Given the description of an element on the screen output the (x, y) to click on. 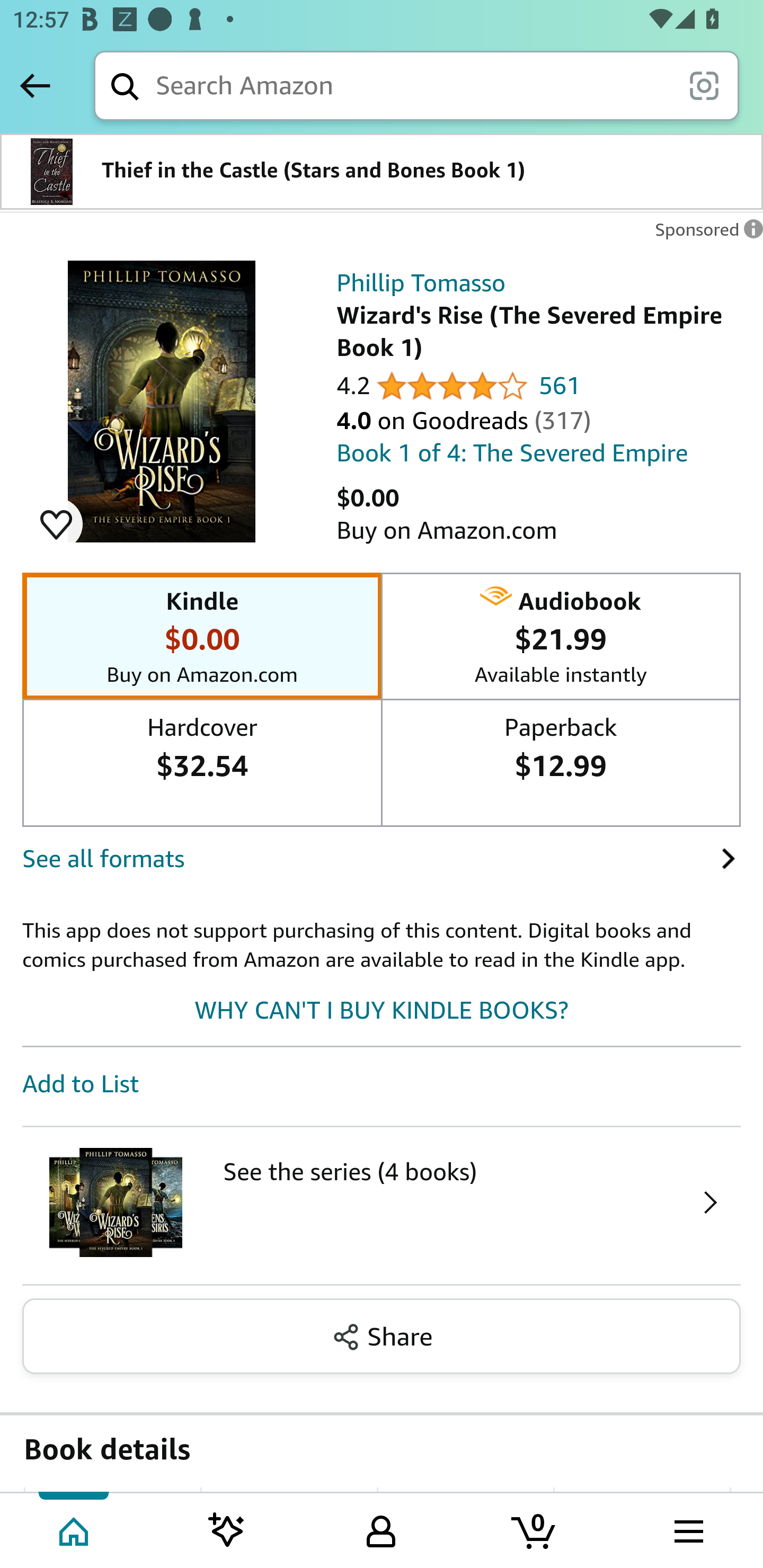
Back (35, 85)
Search Search Search Amazon scan it (416, 85)
scan it (704, 85)
Leave feedback on Sponsored ad Sponsored  (703, 234)
Phillip Tomasso (421, 282)
Book 1 of 4: The Severed Empire (511, 453)
Heart to save an item to your default list (56, 524)
Hardcover $32.54  Hardcover $32.54 (202, 743)
Paperback $12.99  Paperback $12.99 (560, 743)
See all formats (371, 858)
WHY CAN'T I BUY KINDLE BOOKS? (381, 1009)
Add to List (80, 1084)
See the series (4 books) (381, 1205)
Share (381, 1335)
Home Tab 1 of 5 (75, 1529)
Inspire feed Tab 2 of 5 (227, 1529)
Your Amazon.com Tab 3 of 5 (380, 1529)
Cart 0 item Tab 4 of 5 0 (534, 1529)
Browse menu Tab 5 of 5 (687, 1529)
